Given the description of an element on the screen output the (x, y) to click on. 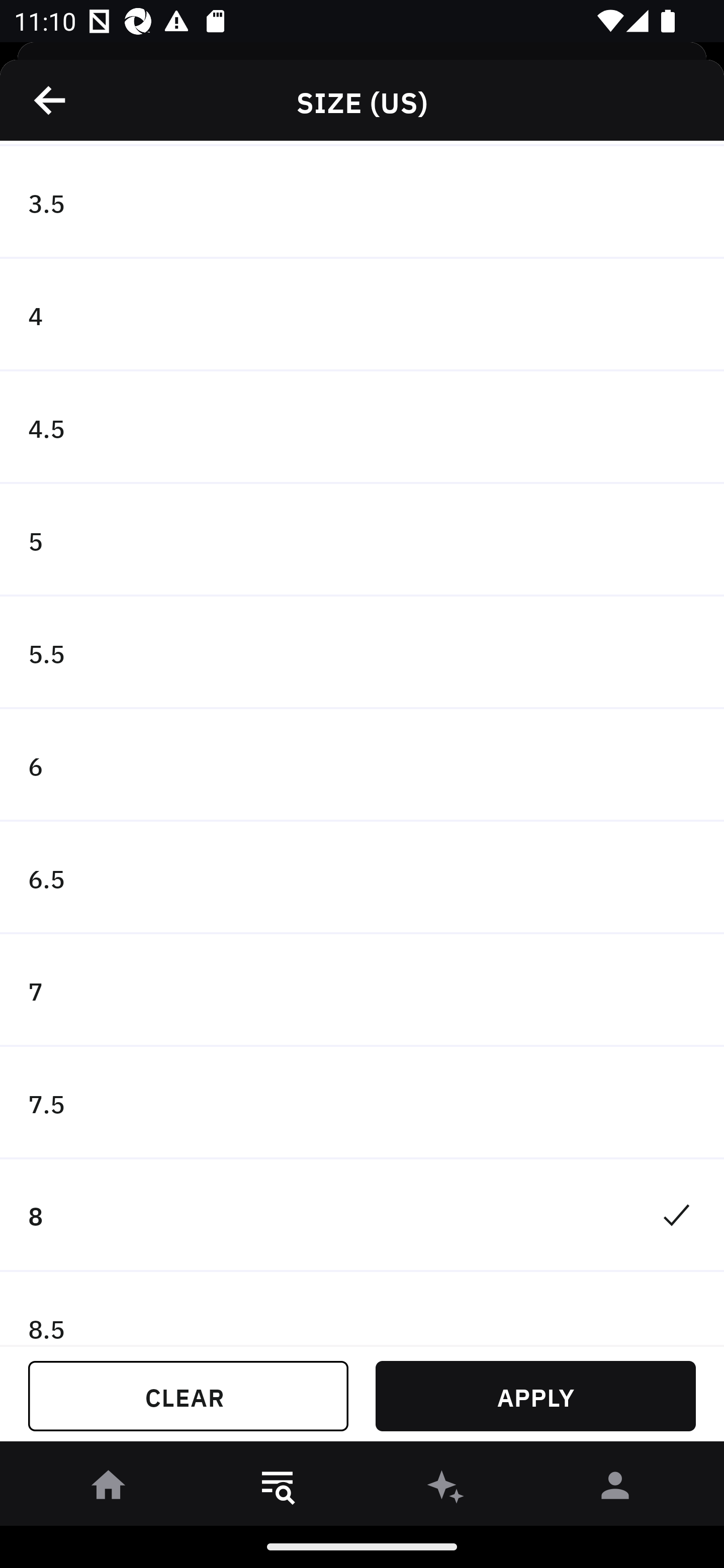
 (50, 100)
3.5 (362, 201)
4 (362, 314)
4.5 (362, 427)
5 (362, 539)
5.5 (362, 651)
6 (362, 764)
6.5 (362, 877)
7 (362, 990)
7.5 (362, 1102)
8  (362, 1214)
8.5 (362, 1308)
CLEAR  (188, 1396)
APPLY (535, 1396)
󰋜 (108, 1488)
󱎸 (277, 1488)
󰫢 (446, 1488)
󰀄 (615, 1488)
